Given the description of an element on the screen output the (x, y) to click on. 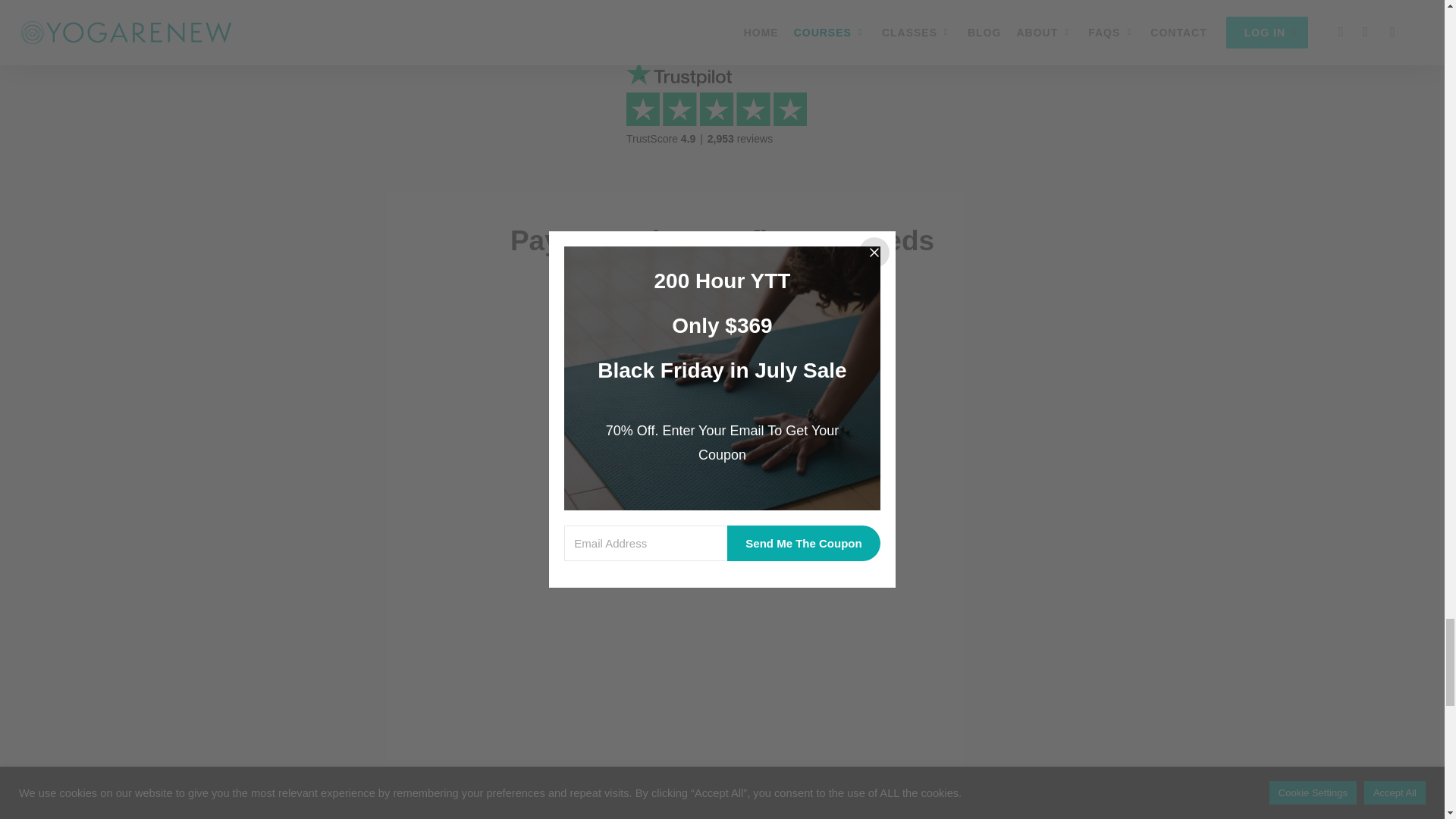
Customer reviews powered by Trustpilot (721, 116)
